Given the description of an element on the screen output the (x, y) to click on. 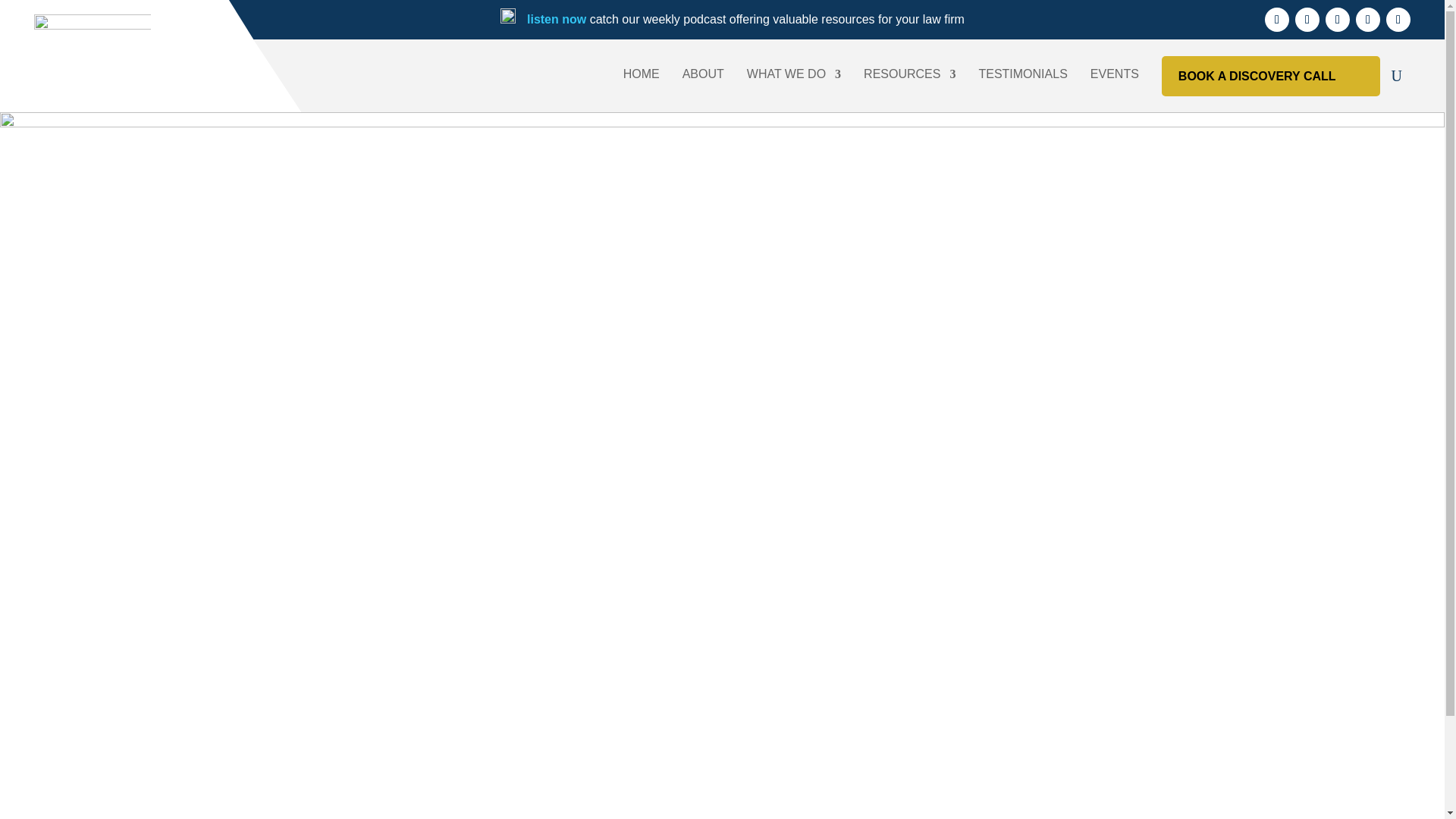
Follow on X (1398, 19)
TESTIMONIALS (1022, 75)
Follow on Facebook (1276, 19)
WHAT WE DO (793, 75)
listen now (556, 19)
RESOURCES (909, 75)
Follow on Youtube (1307, 19)
Follow on LinkedIn (1336, 19)
Follow on Instagram (1367, 19)
BOOK A DISCOVERY CALL (1270, 76)
